Given the description of an element on the screen output the (x, y) to click on. 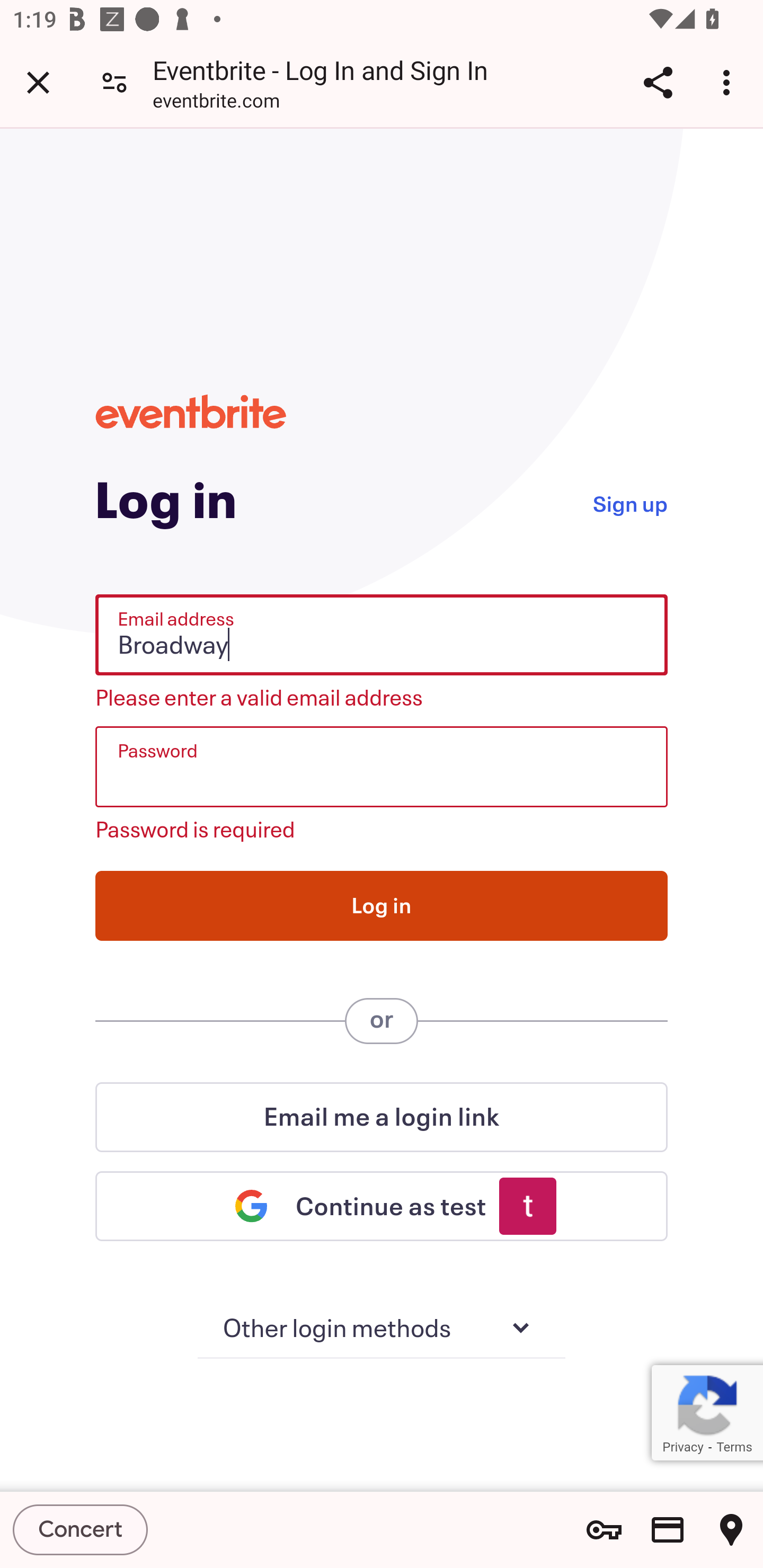
Close tab (38, 82)
Share (657, 82)
Customize and control Google Chrome (729, 82)
Connection is secure (114, 81)
eventbrite.com (216, 103)
www.eventbrite (190, 411)
Sign up (629, 502)
Broadway (381, 634)
Log in (381, 905)
Email me a login link (381, 1116)
Other login methods Toggle Content (381, 1328)
Privacy (682, 1447)
Terms (734, 1447)
Concert (80, 1529)
Show saved passwords and password options (603, 1530)
Show saved payment methods (667, 1530)
Show saved addresses (731, 1530)
